Given the description of an element on the screen output the (x, y) to click on. 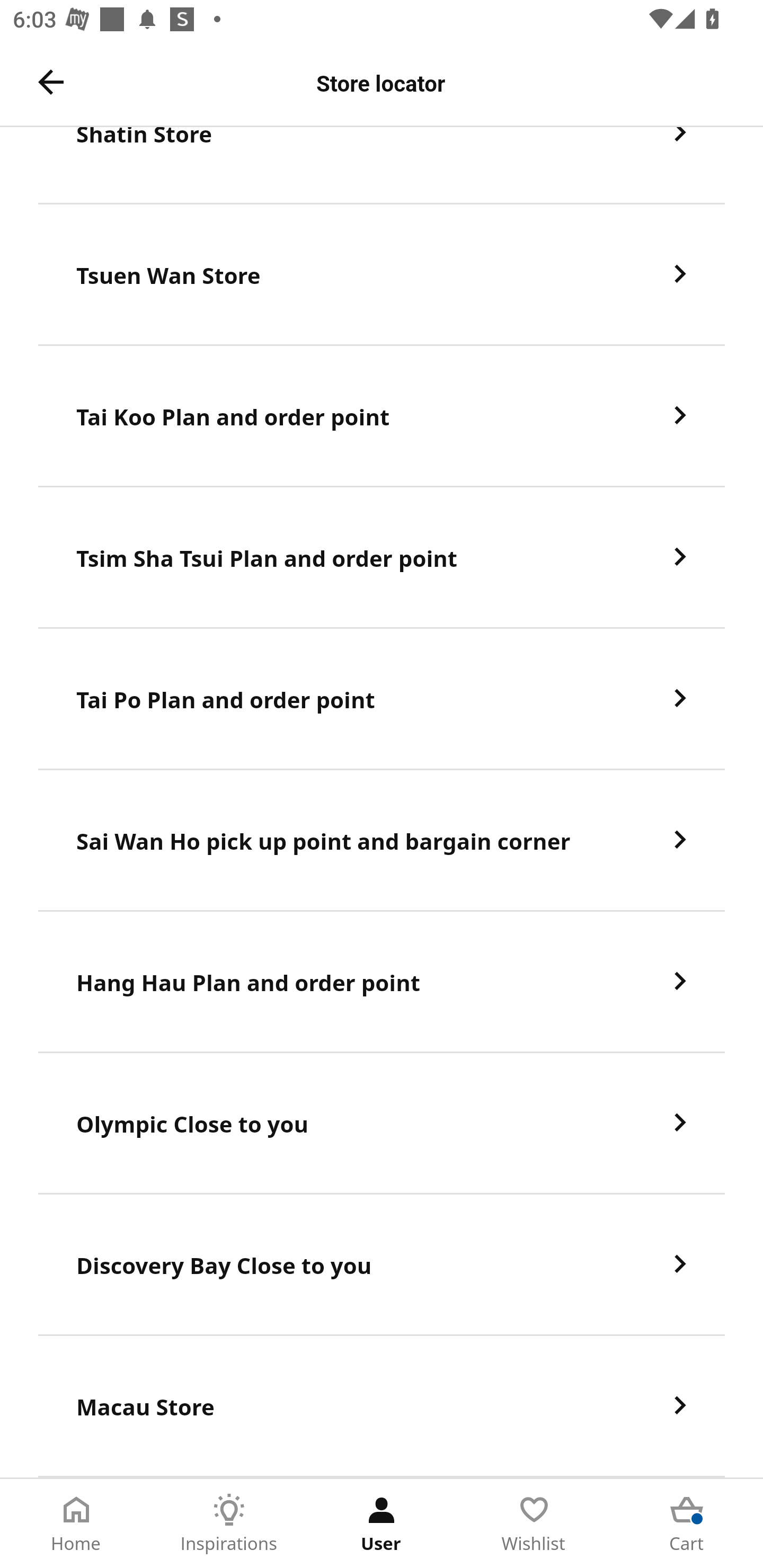
Shatin Store (381, 165)
Tsuen Wan Store (381, 274)
Tai Koo Plan and order point (381, 416)
Tsim Sha Tsui Plan and order point (381, 557)
Tai Po Plan and order point (381, 698)
Sai Wan Ho pick up point and bargain corner (381, 840)
Hang Hau Plan and order point (381, 982)
Olympic Close to you (381, 1123)
Discovery Bay Close to you (381, 1264)
Macau Store (381, 1406)
Home
Tab 1 of 5 (76, 1522)
Inspirations
Tab 2 of 5 (228, 1522)
User
Tab 3 of 5 (381, 1522)
Wishlist
Tab 4 of 5 (533, 1522)
Cart
Tab 5 of 5 (686, 1522)
